Given the description of an element on the screen output the (x, y) to click on. 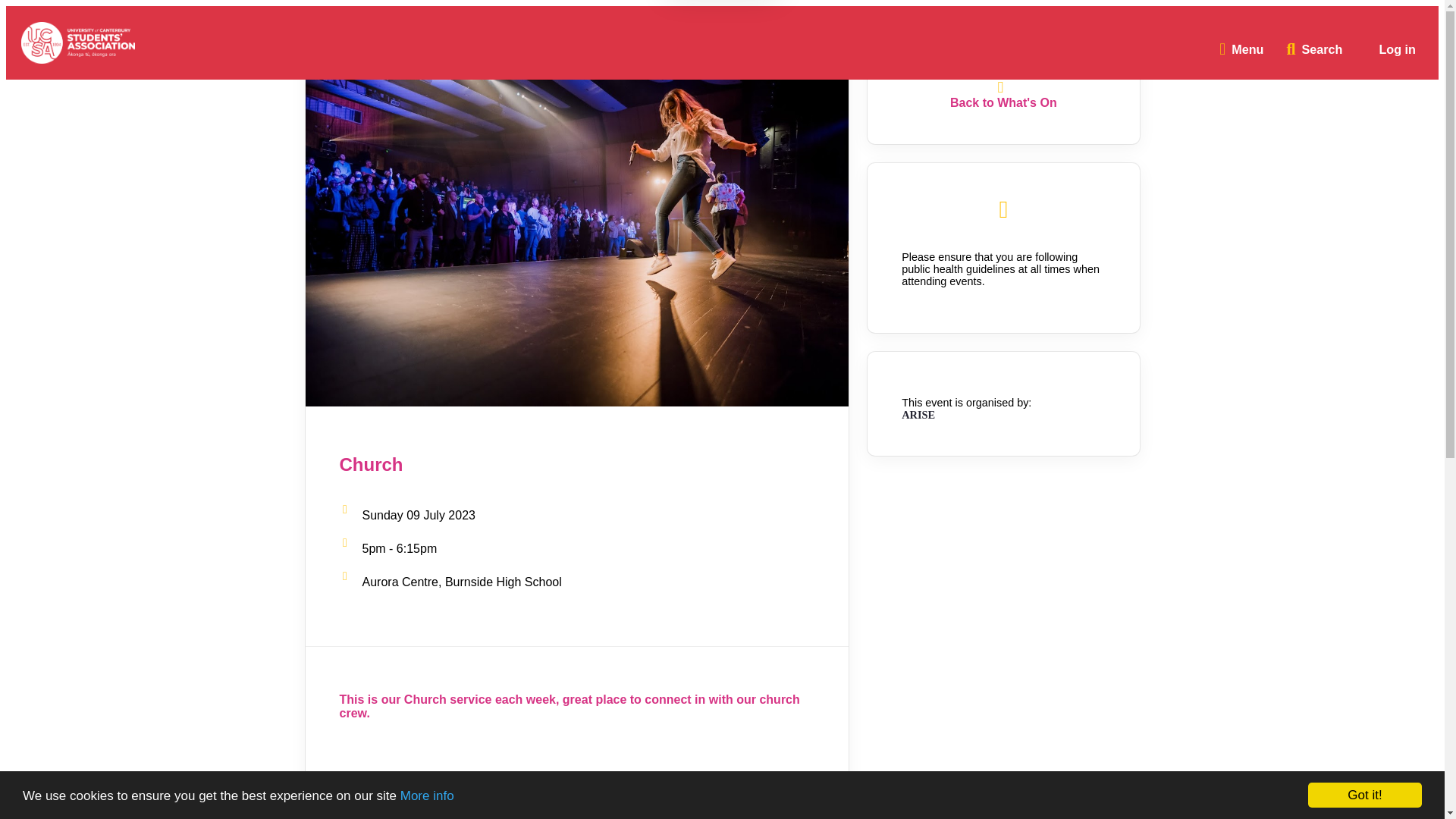
Log in (1397, 49)
ARISE (917, 414)
Back to What's On (1003, 102)
